Given the description of an element on the screen output the (x, y) to click on. 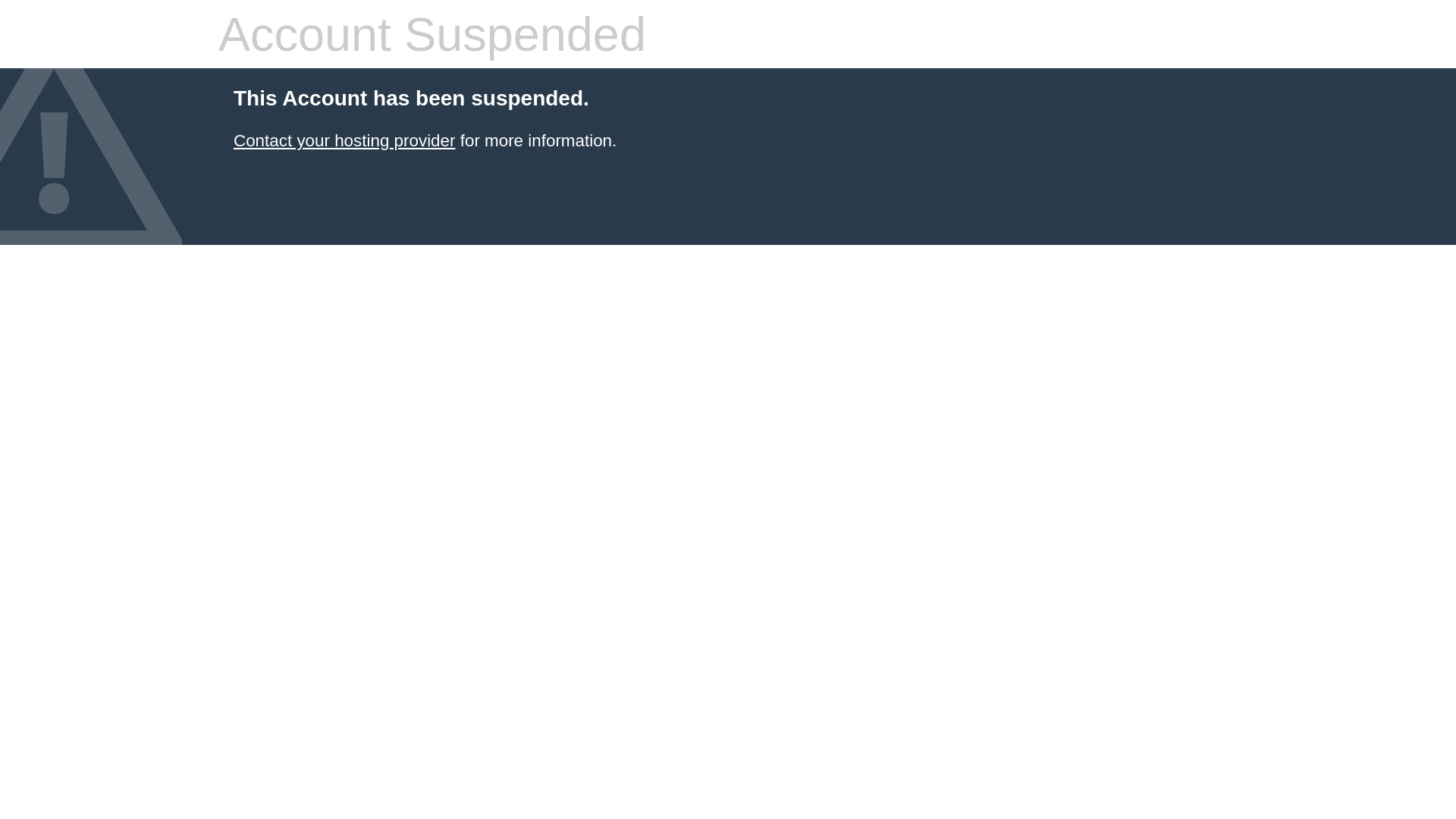
Contact your hosting provider Element type: text (344, 140)
